Given the description of an element on the screen output the (x, y) to click on. 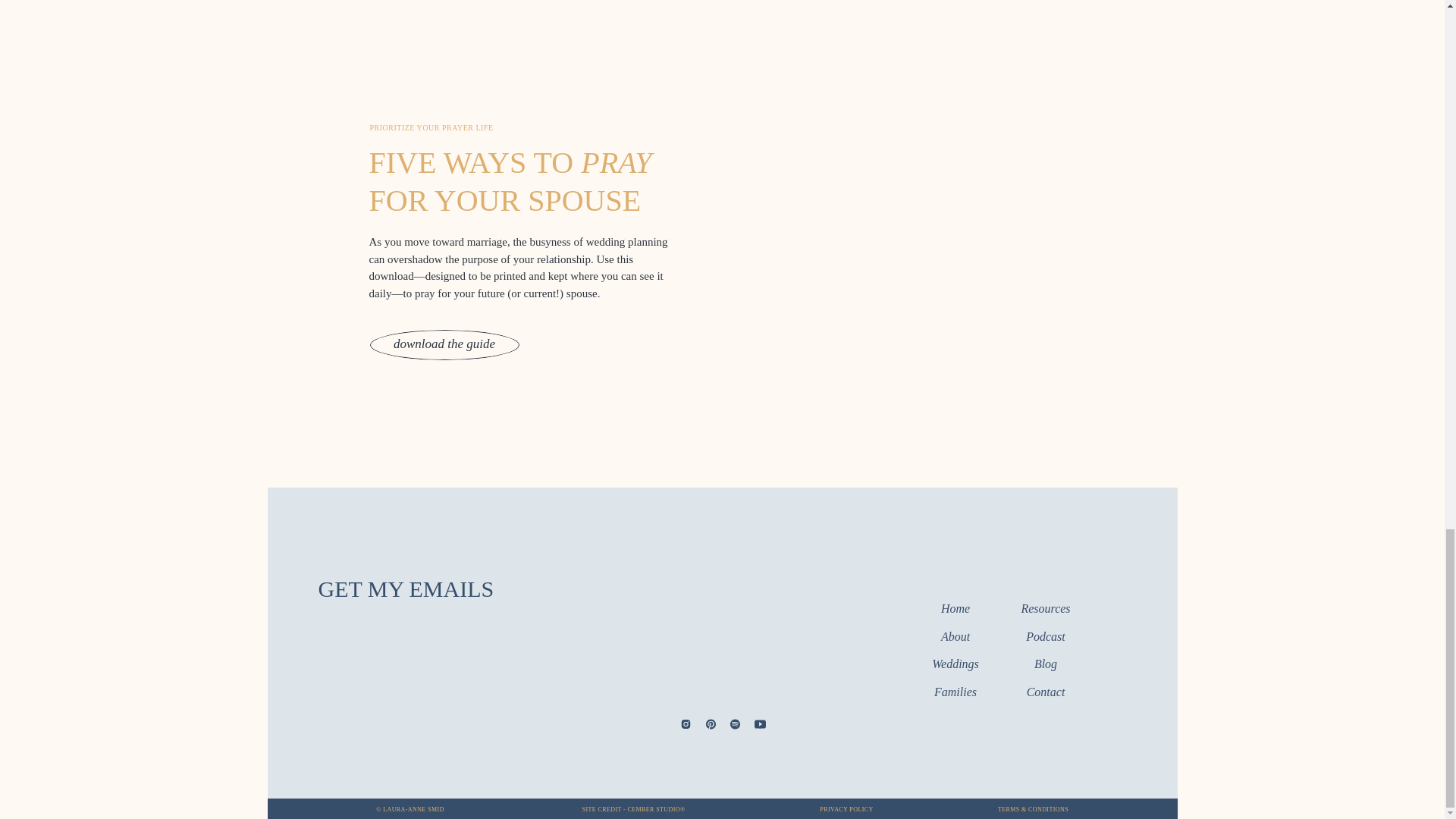
download the guide (443, 343)
Resources (1045, 609)
Podcast (1045, 637)
Contact (1045, 692)
Home (955, 609)
